Given the description of an element on the screen output the (x, y) to click on. 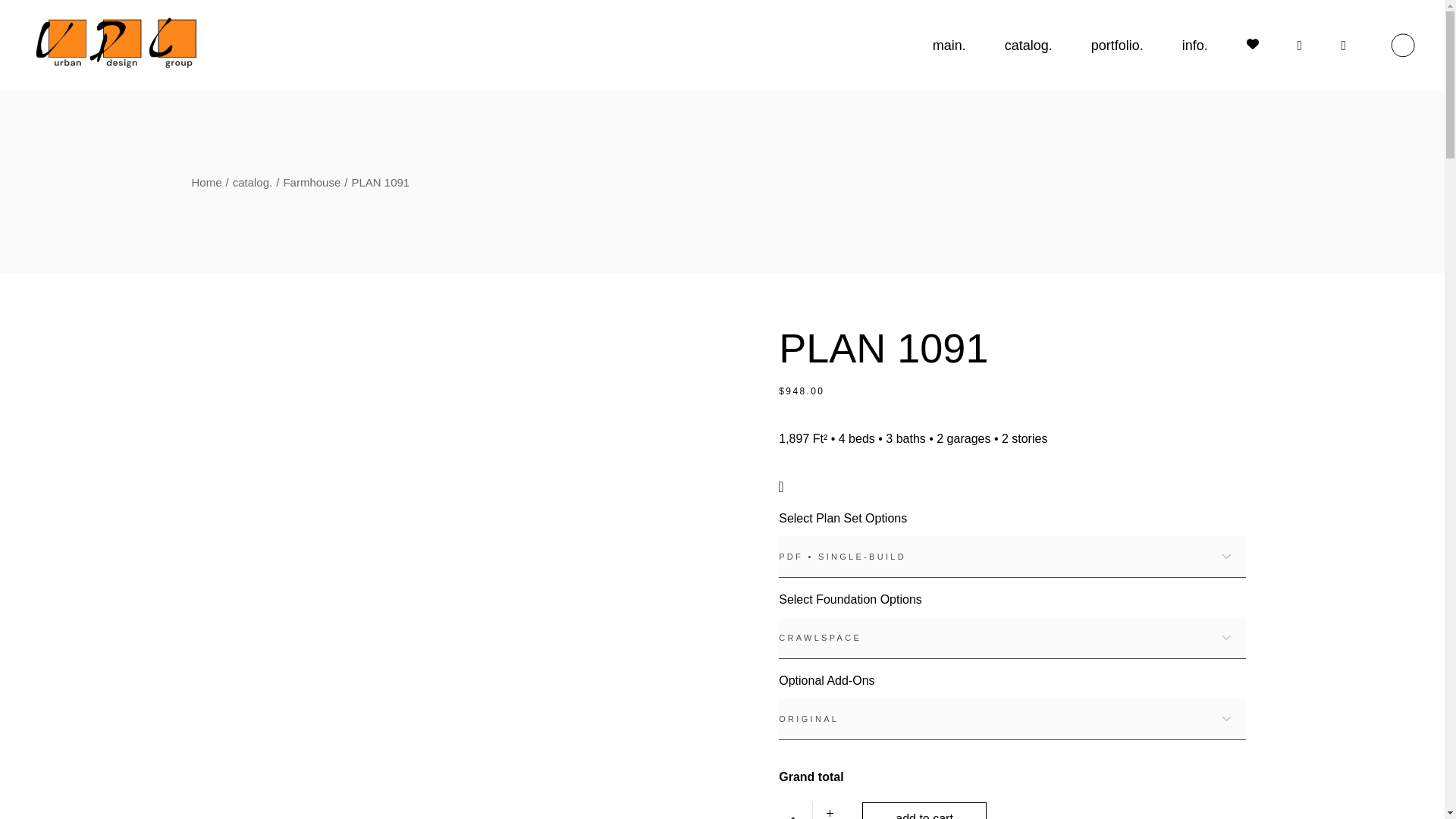
Home (205, 182)
Farmhouse (311, 182)
1 (795, 810)
catalog. (252, 182)
Qty (795, 810)
